Given the description of an element on the screen output the (x, y) to click on. 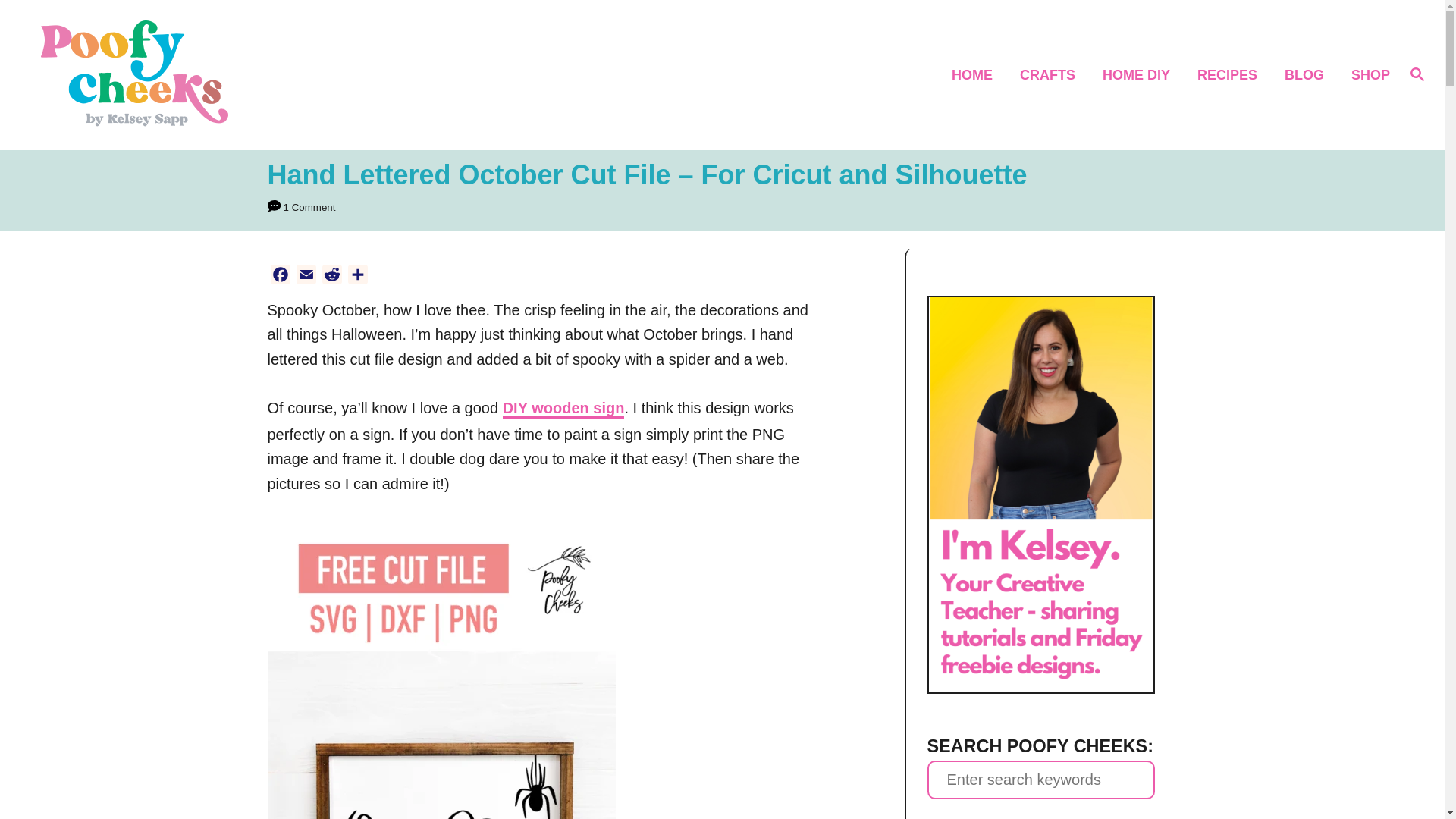
Reddit (330, 274)
Search for: (1040, 779)
BLOG (1308, 75)
Email (305, 274)
Email (305, 274)
DIY wooden sign (563, 409)
Share (356, 274)
HOME DIY (1140, 75)
Facebook (279, 274)
HOME (976, 75)
